Given the description of an element on the screen output the (x, y) to click on. 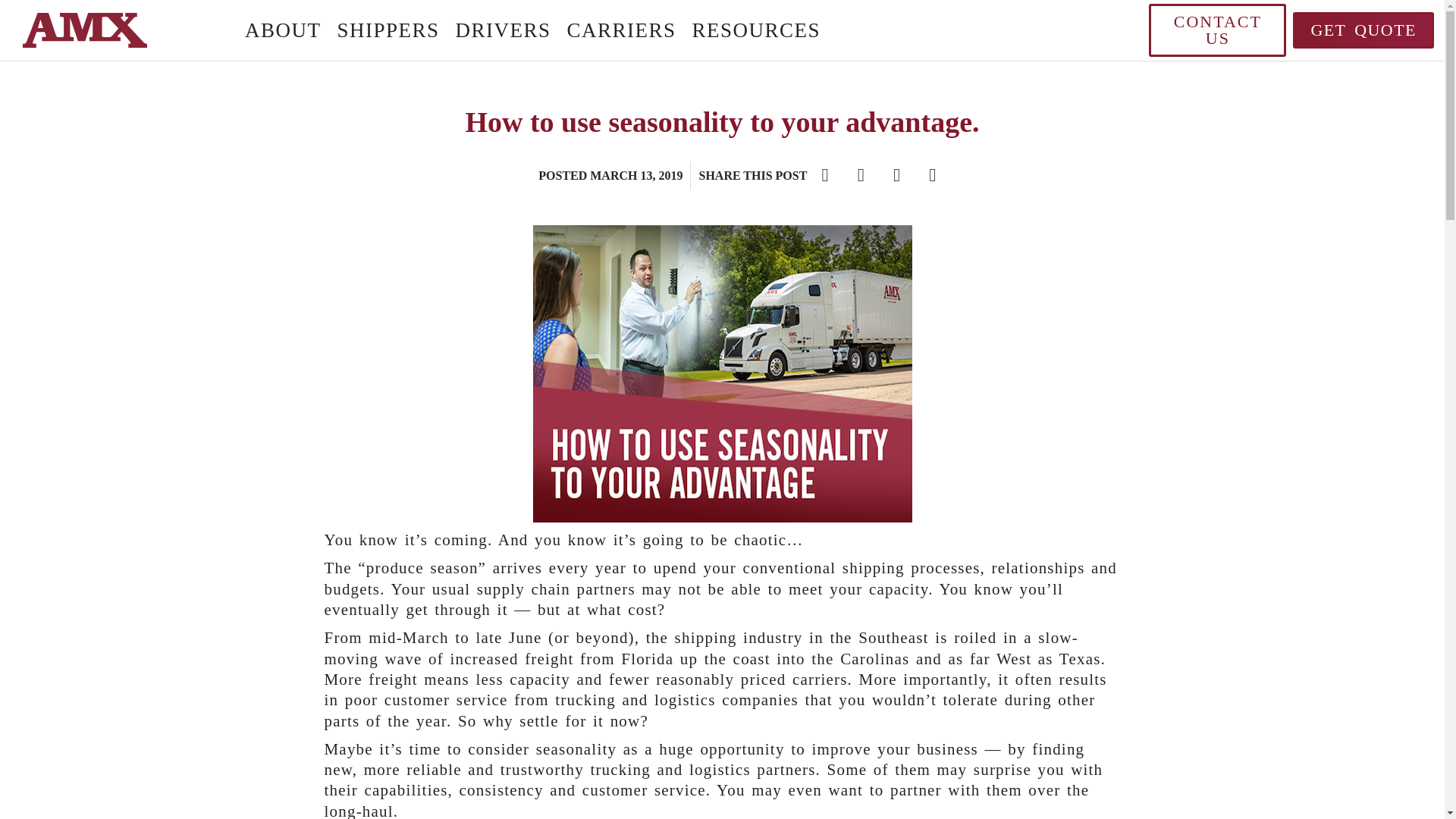
RESOURCES (756, 30)
ABOUT (283, 30)
SHIPPERS (387, 30)
CARRIERS (621, 30)
DRIVERS (501, 30)
